Given the description of an element on the screen output the (x, y) to click on. 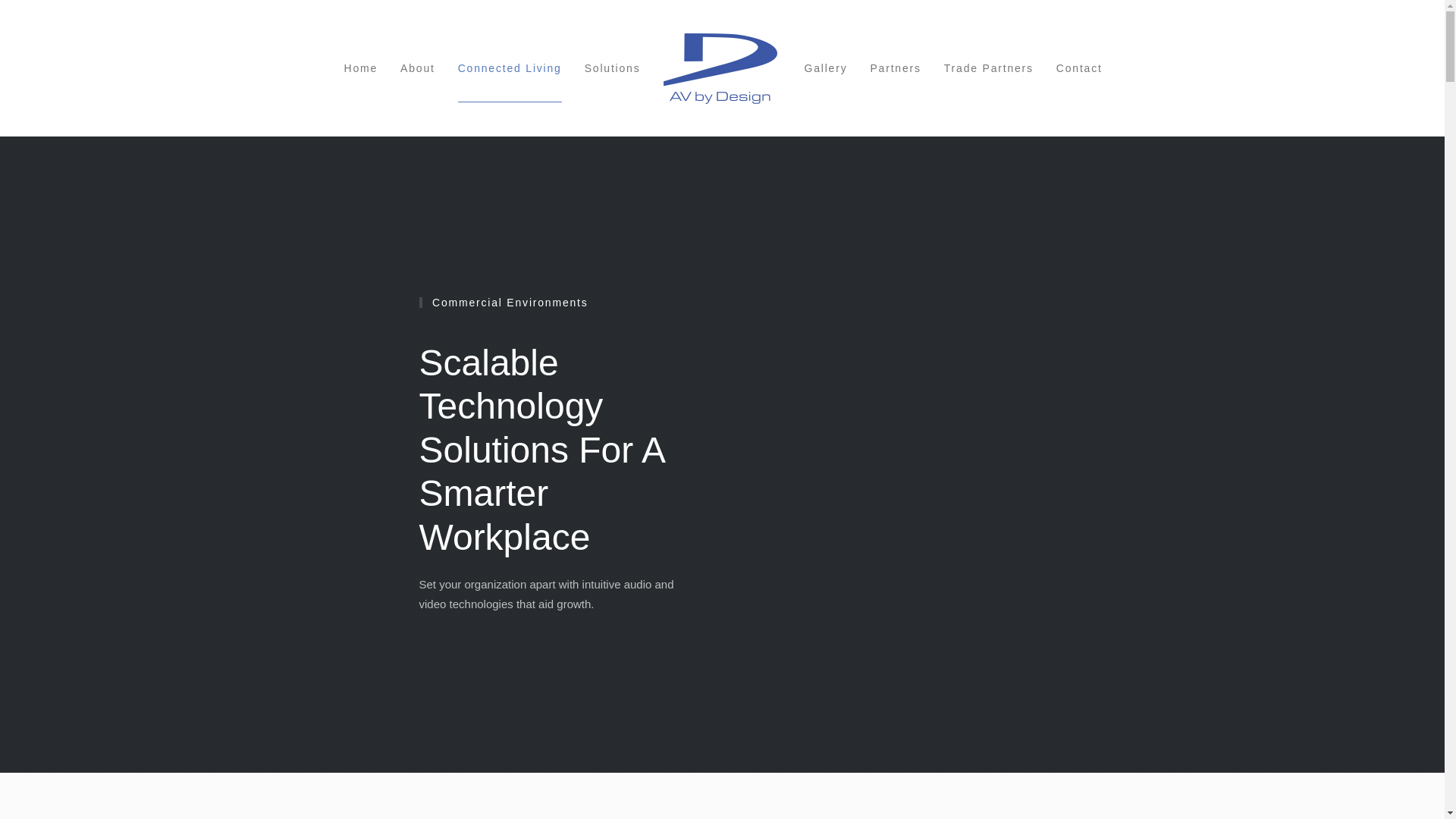
Scalable Technology Solutions For A Smarter Workplace (557, 450)
Connected Living (510, 68)
Commercial Environments (557, 303)
